Given the description of an element on the screen output the (x, y) to click on. 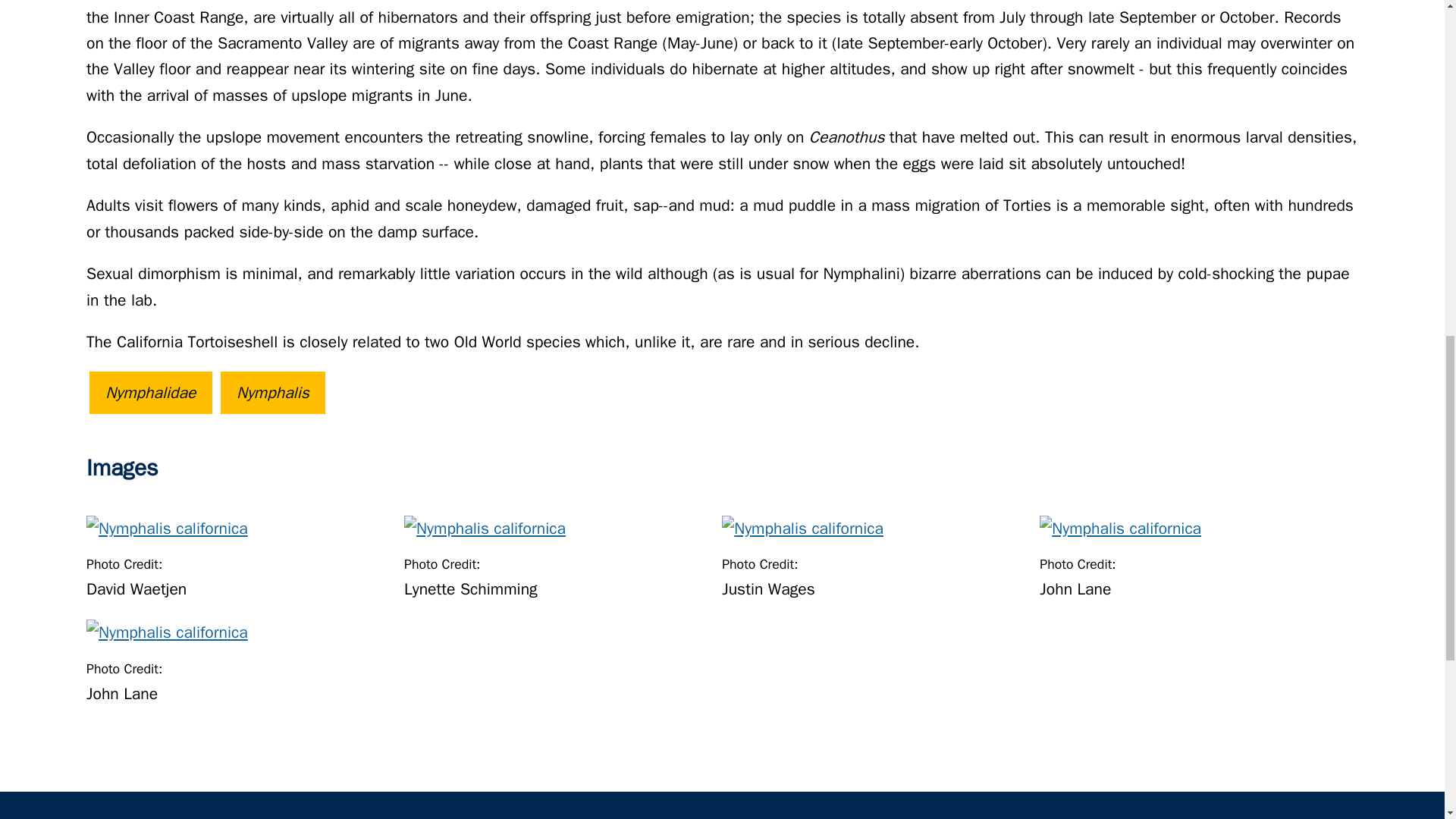
Nymphalis (272, 392)
Nymphalidae (150, 392)
